Given the description of an element on the screen output the (x, y) to click on. 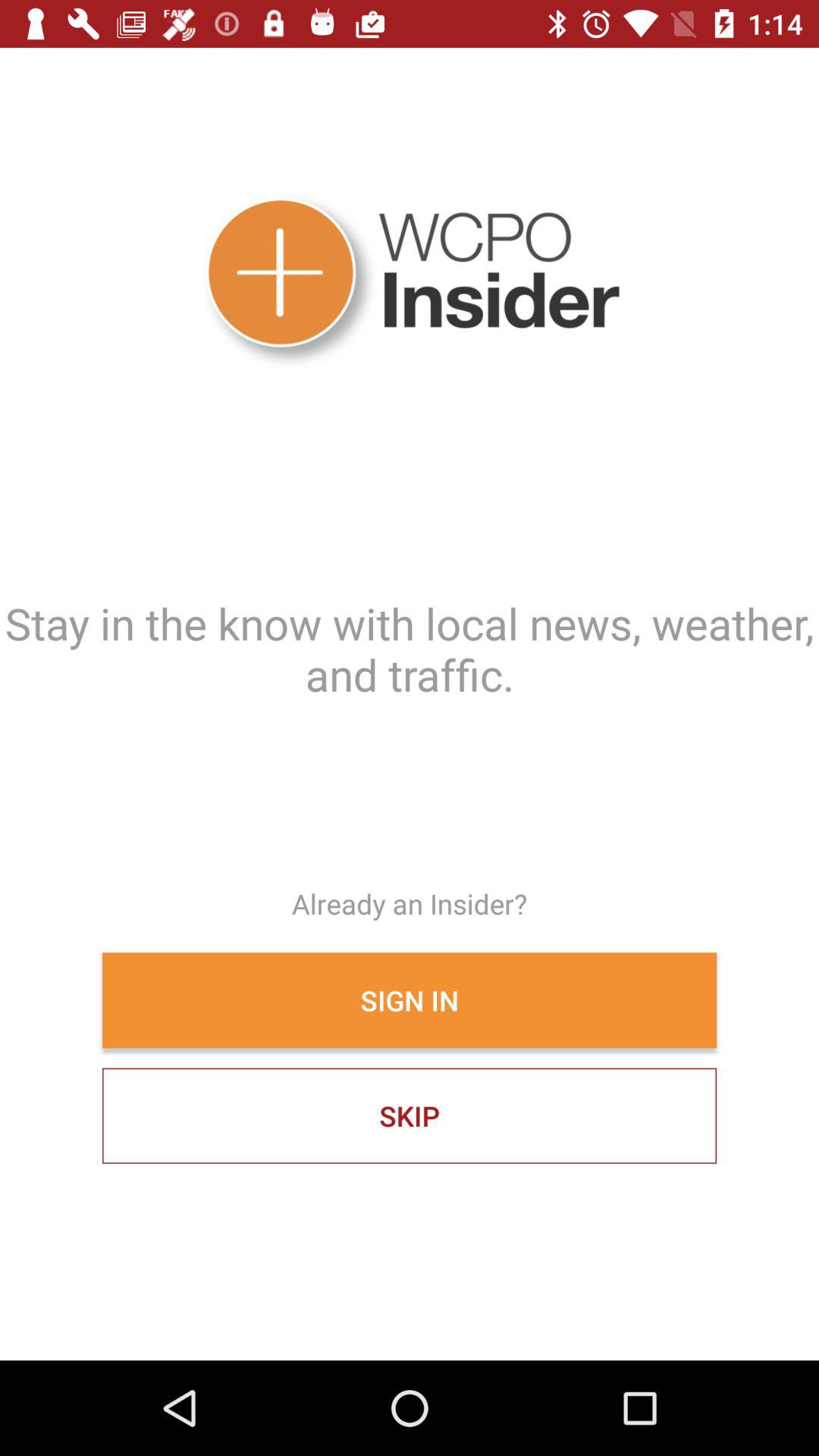
turn off icon above the skip (409, 1000)
